Given the description of an element on the screen output the (x, y) to click on. 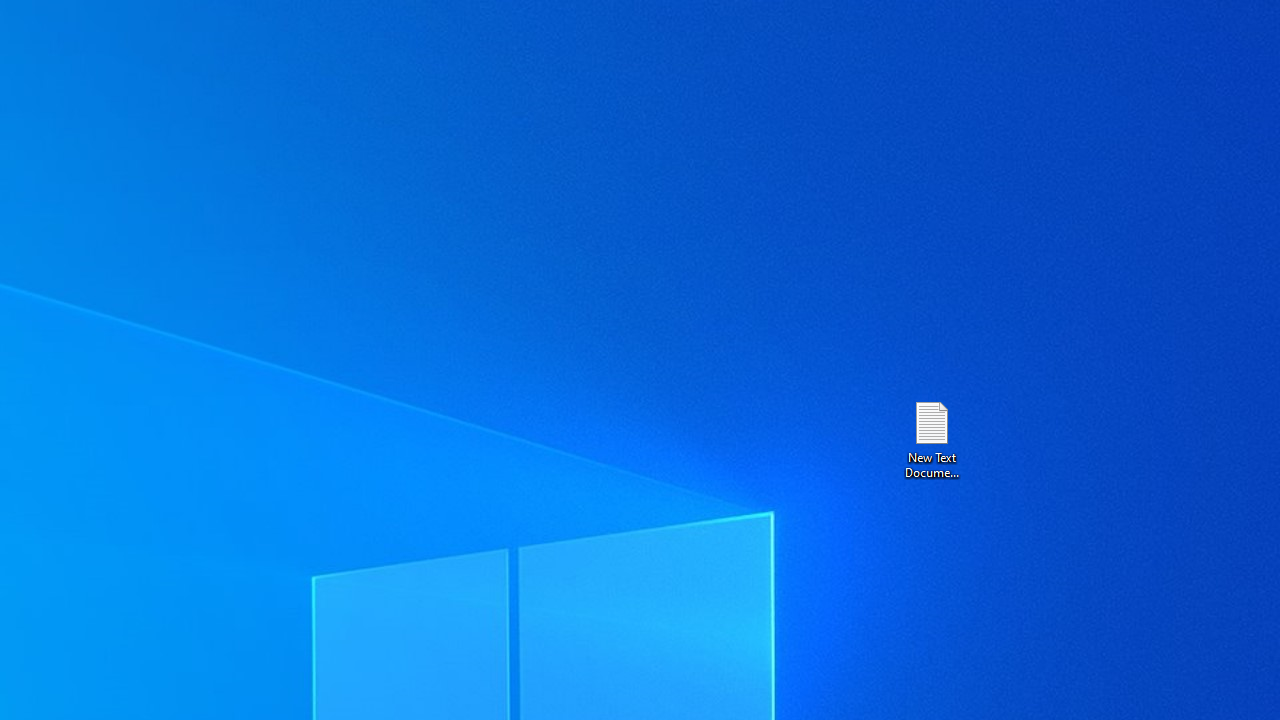
New Text Document (2) (931, 438)
